Given the description of an element on the screen output the (x, y) to click on. 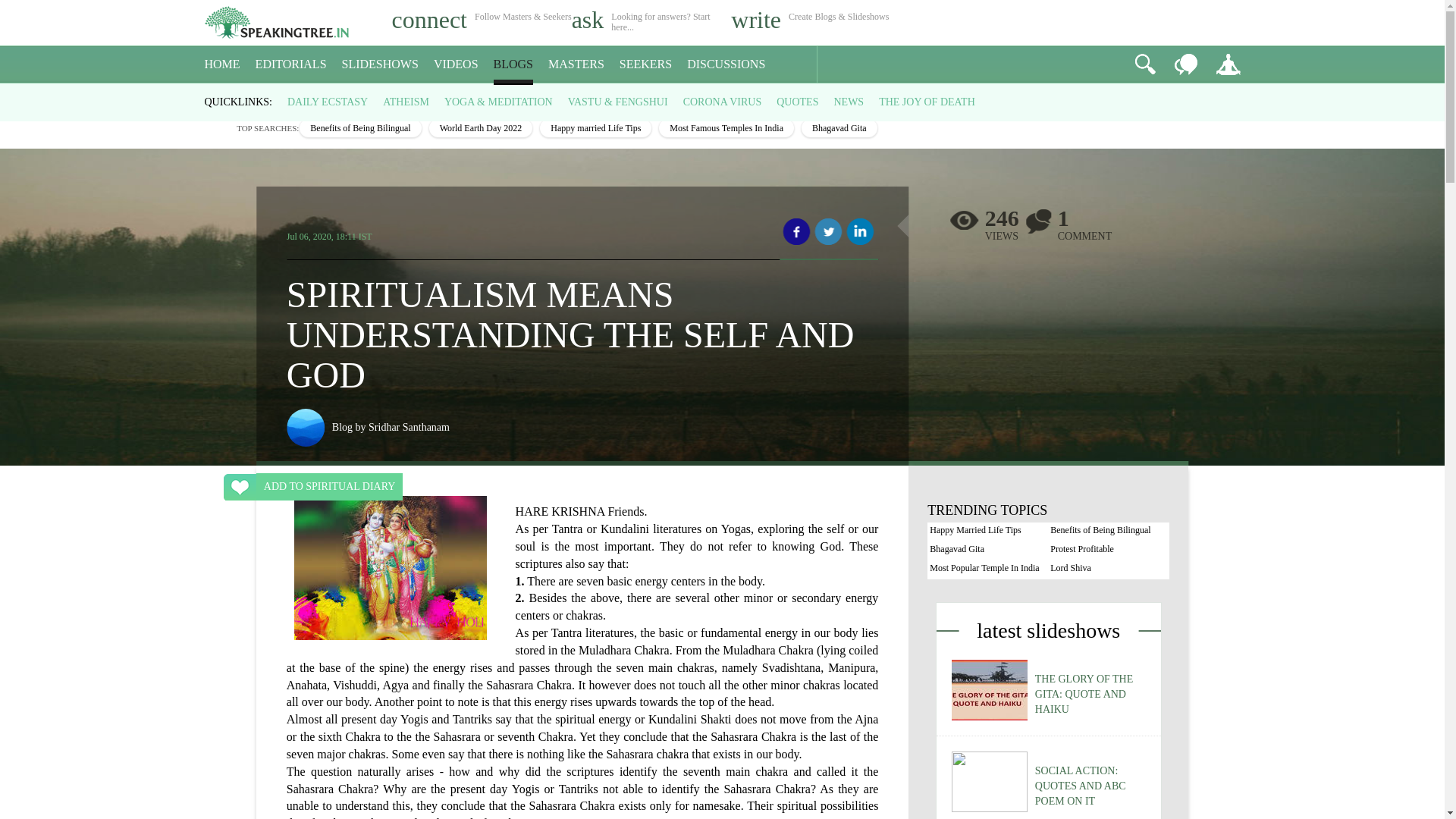
SLIDESHOWS (380, 64)
VIDEOS (456, 64)
THE JOY OF DEATH (927, 101)
NEWS (847, 101)
CORONA VIRUS (721, 101)
DISCUSSIONS (726, 64)
Share on LinkedIn (860, 231)
QUOTES (797, 101)
Blogs (251, 96)
MASTERS (576, 64)
SEEKERS (645, 64)
Share on Twitter (828, 231)
Share on Facebook (796, 231)
EDITORIALS (291, 64)
ATHEISM (405, 101)
